Given the description of an element on the screen output the (x, y) to click on. 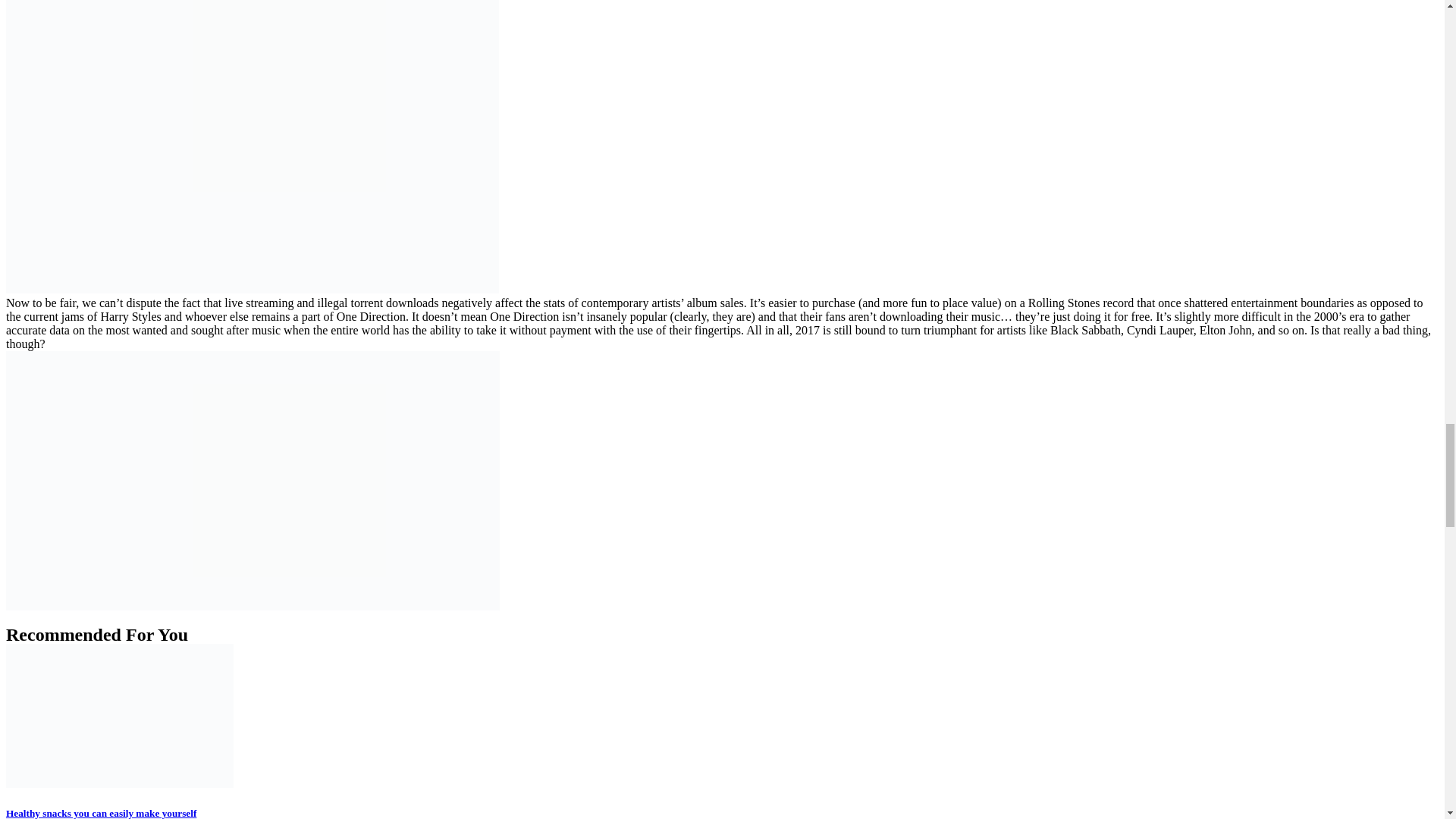
Healthy snacks you can easily make yourself (100, 813)
